Given the description of an element on the screen output the (x, y) to click on. 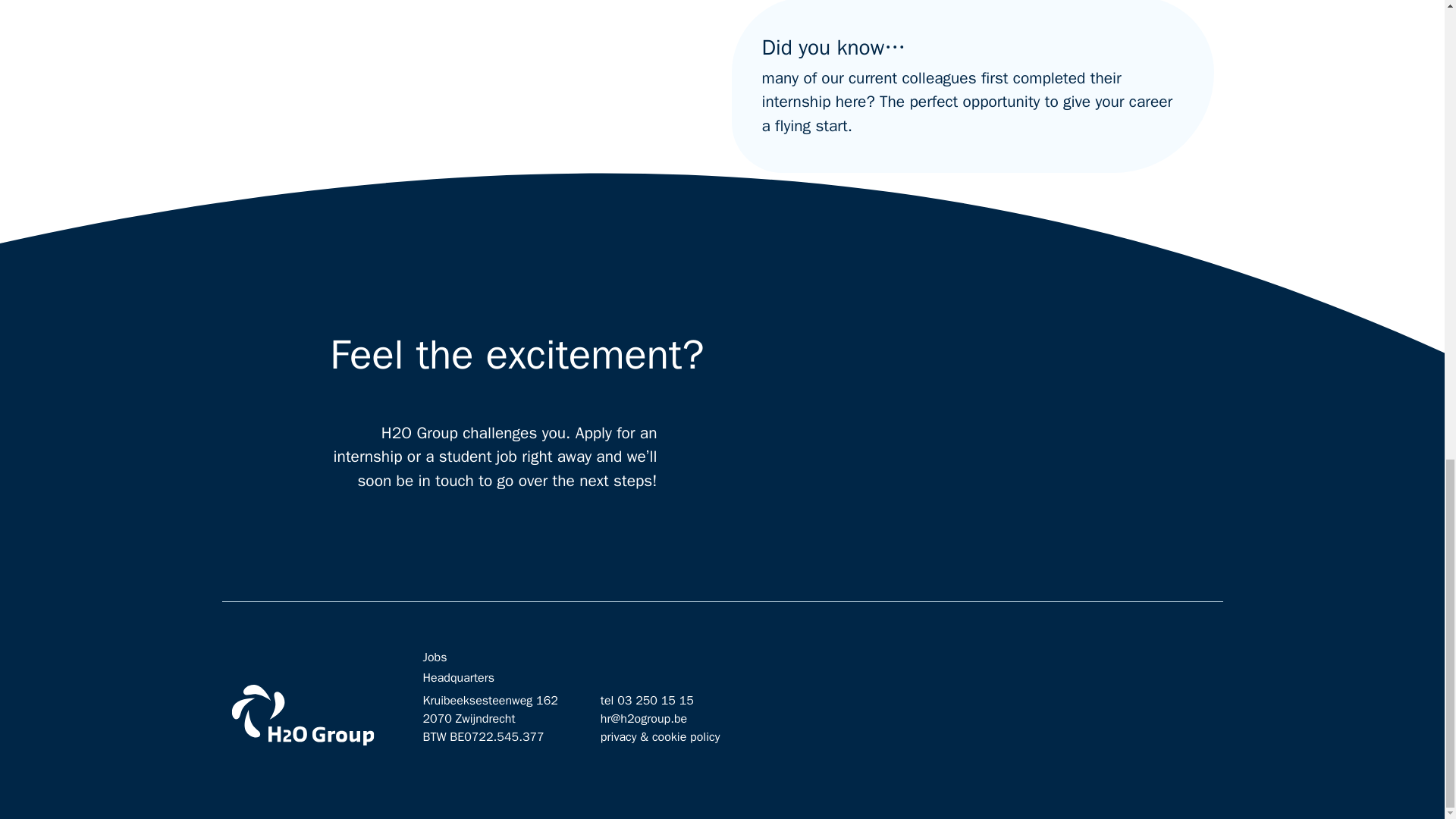
tel 03 250 15 15 (646, 700)
Instagram (1080, 739)
Youtube (1193, 739)
Facebook (1155, 739)
Jobs (434, 657)
Linkedin (1118, 739)
